Given the description of an element on the screen output the (x, y) to click on. 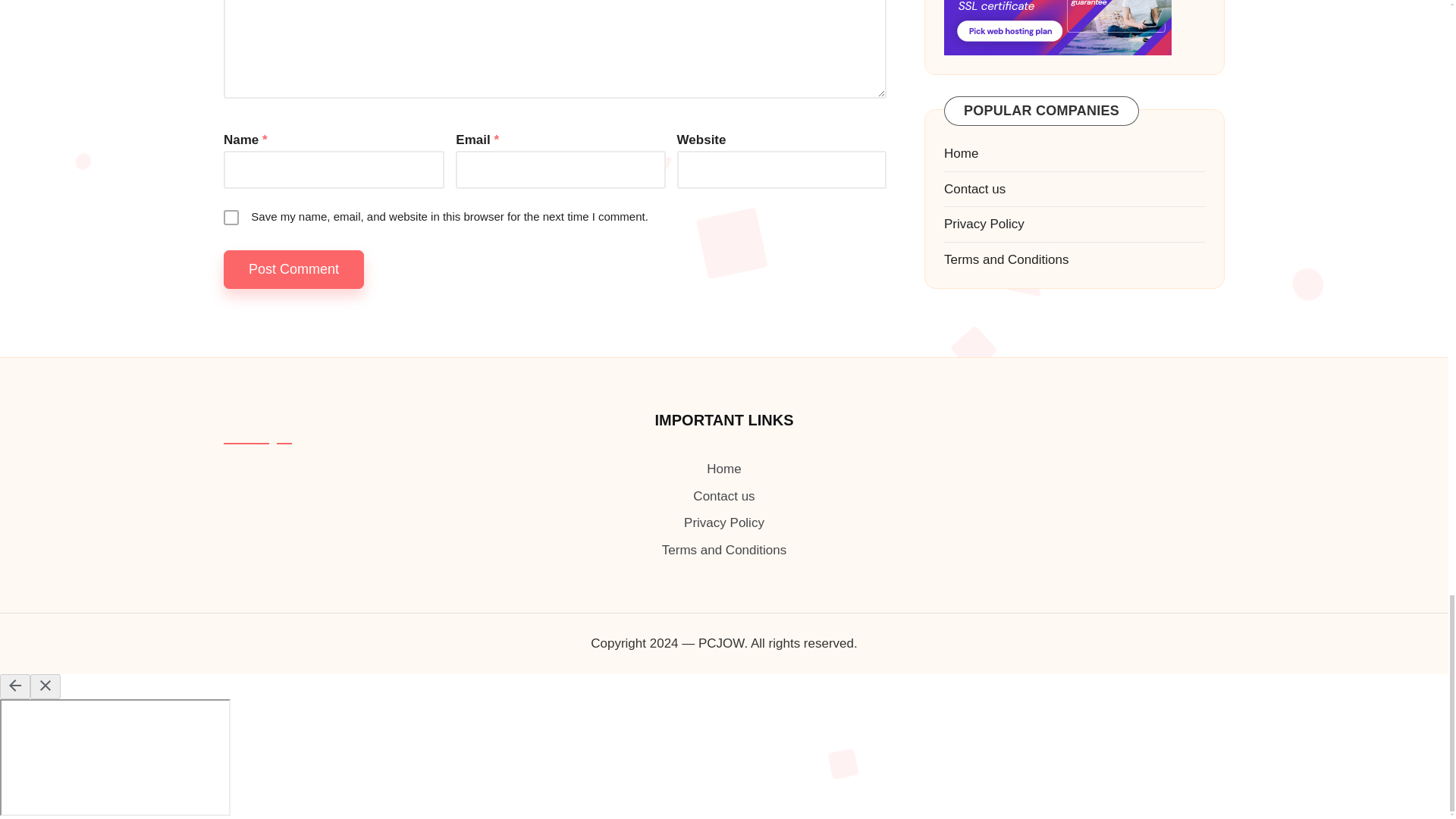
Post Comment (294, 269)
Home (723, 468)
Contact us (723, 495)
Terms and Conditions (724, 549)
Privacy Policy (724, 522)
Post Comment (294, 269)
yes (231, 217)
